Given the description of an element on the screen output the (x, y) to click on. 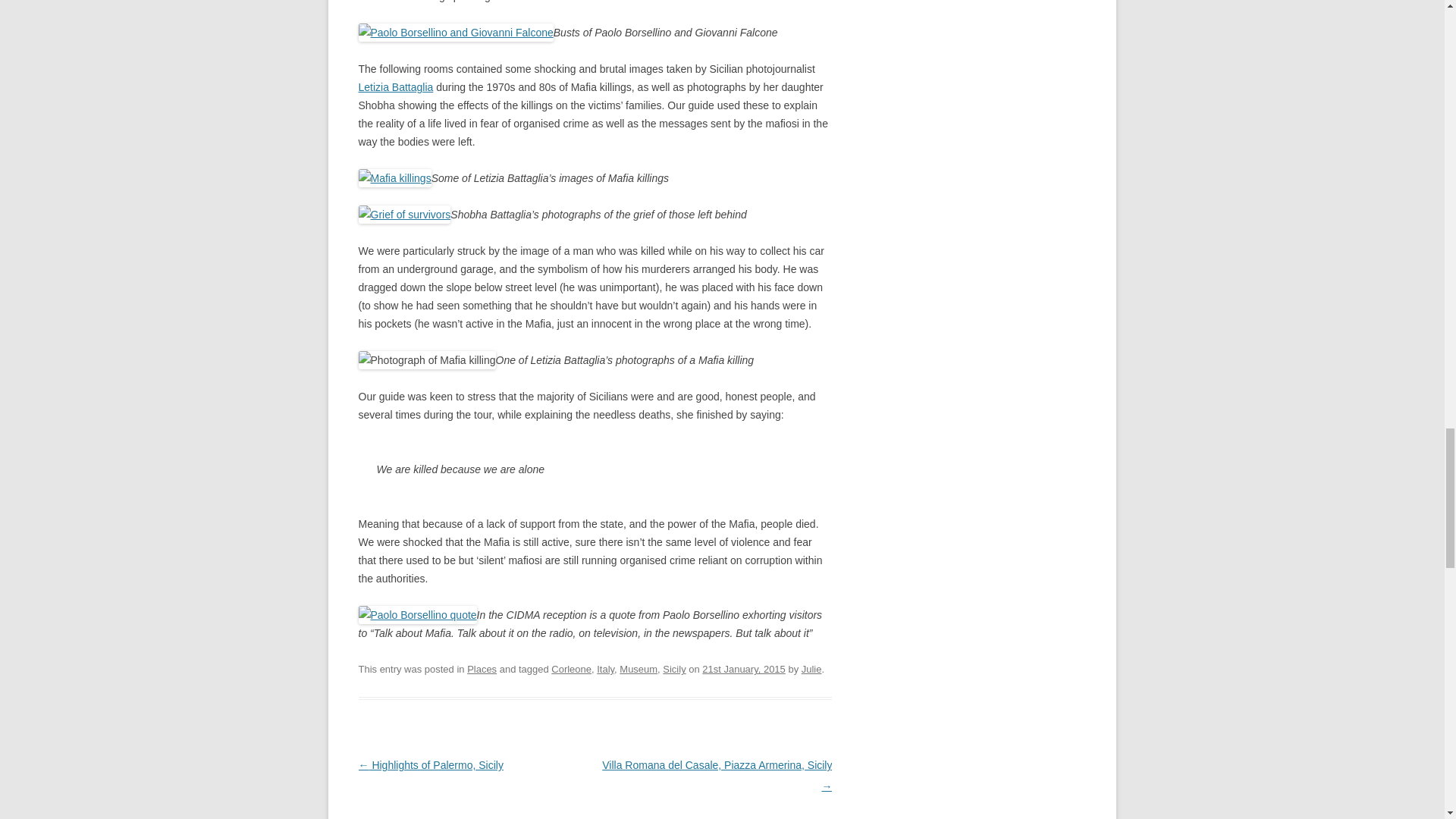
Letizia Battaglia (395, 87)
21st January, 2015 (742, 668)
Corleone (571, 668)
Sicily (673, 668)
Italy (605, 668)
9:00 am (742, 668)
Julie (812, 668)
Museum (639, 668)
Places (481, 668)
View all posts by Julie (812, 668)
